Given the description of an element on the screen output the (x, y) to click on. 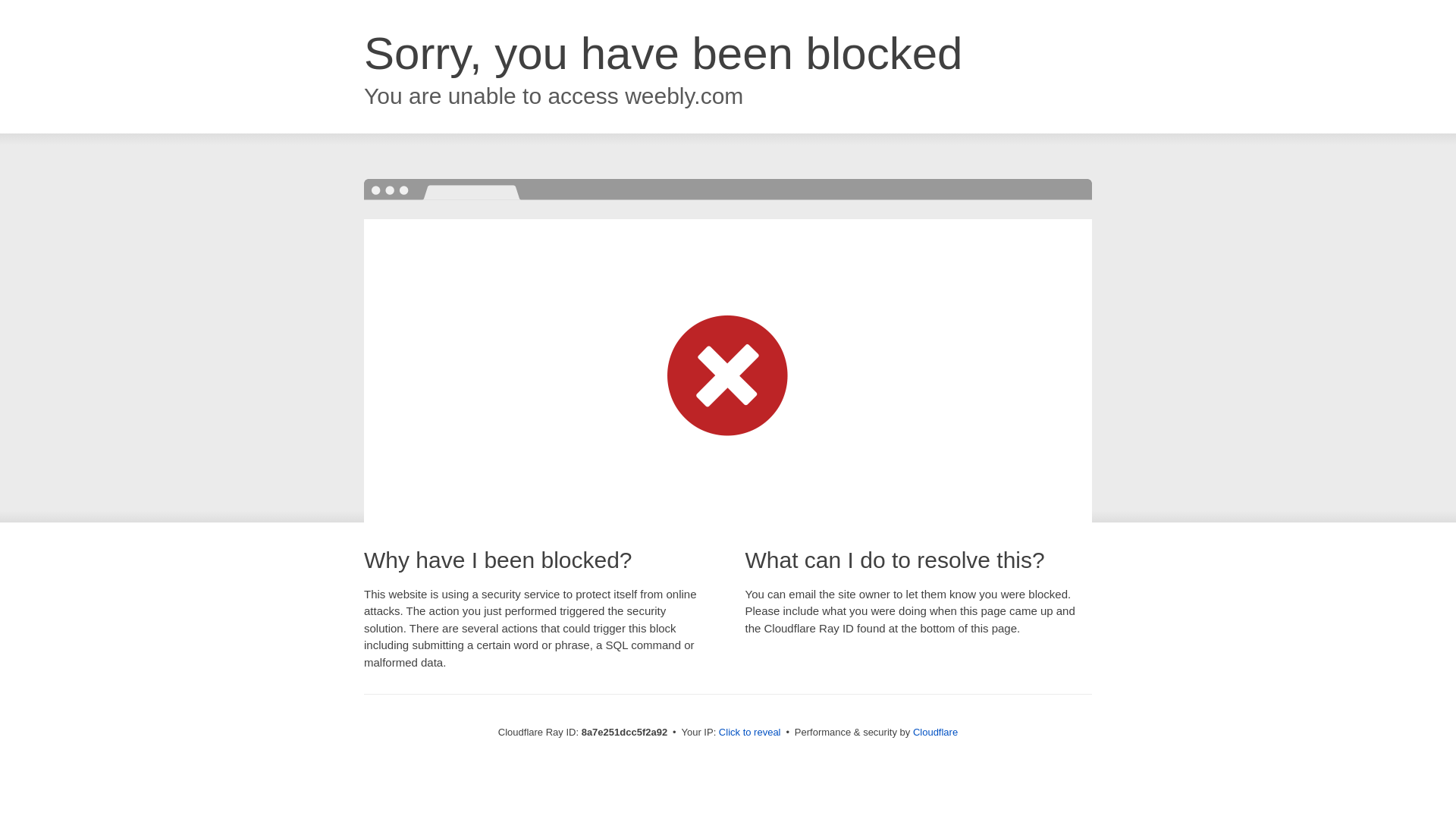
Cloudflare (935, 731)
Click to reveal (749, 732)
